Given the description of an element on the screen output the (x, y) to click on. 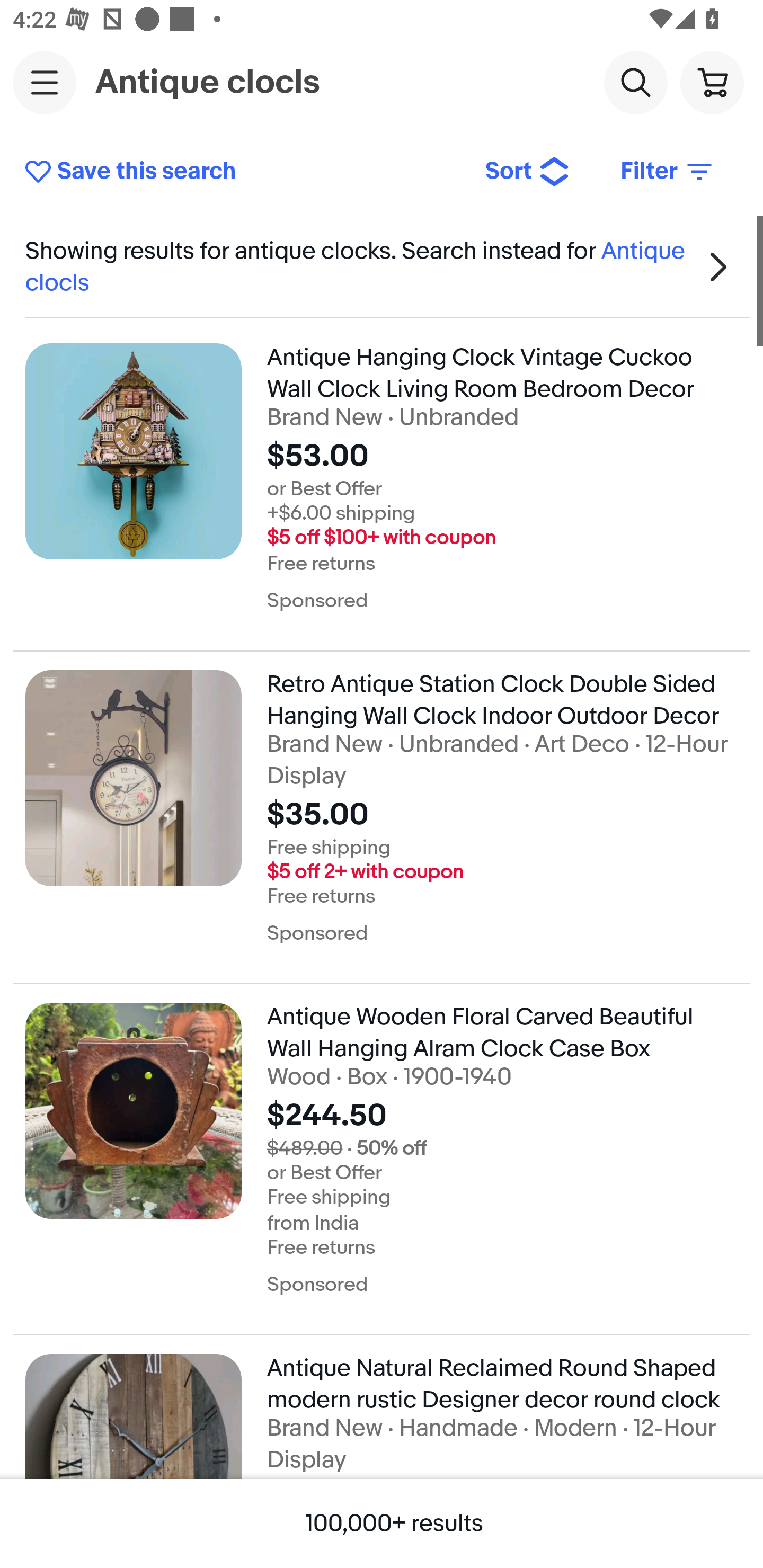
Main navigation, open (44, 82)
Search (635, 81)
Cart button shopping cart (711, 81)
Save this search (241, 171)
Sort (527, 171)
Filter (667, 171)
